Given the description of an element on the screen output the (x, y) to click on. 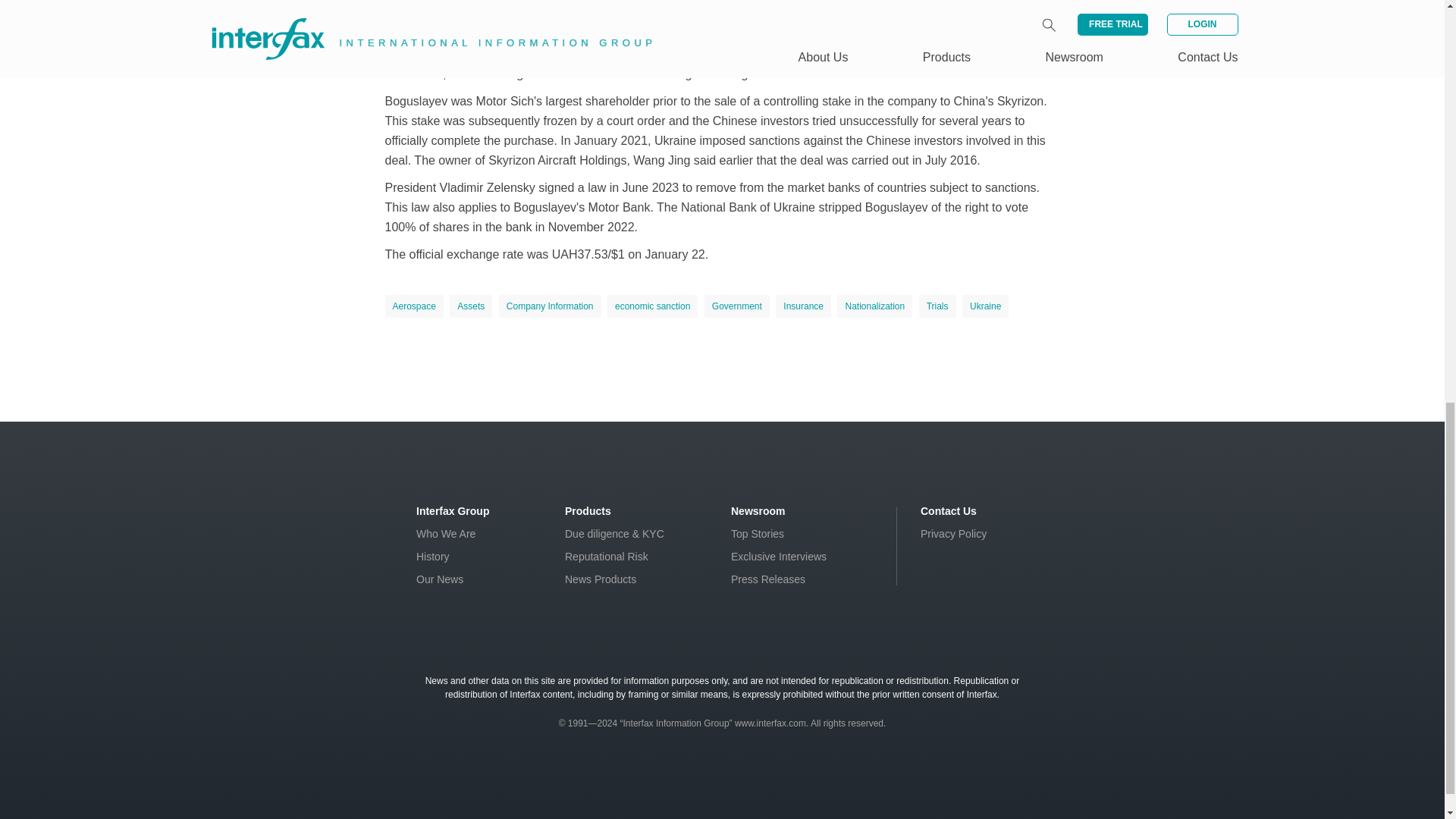
Company Information (550, 305)
Aerospace (414, 305)
Assets (470, 305)
economic sanction (652, 305)
